Given the description of an element on the screen output the (x, y) to click on. 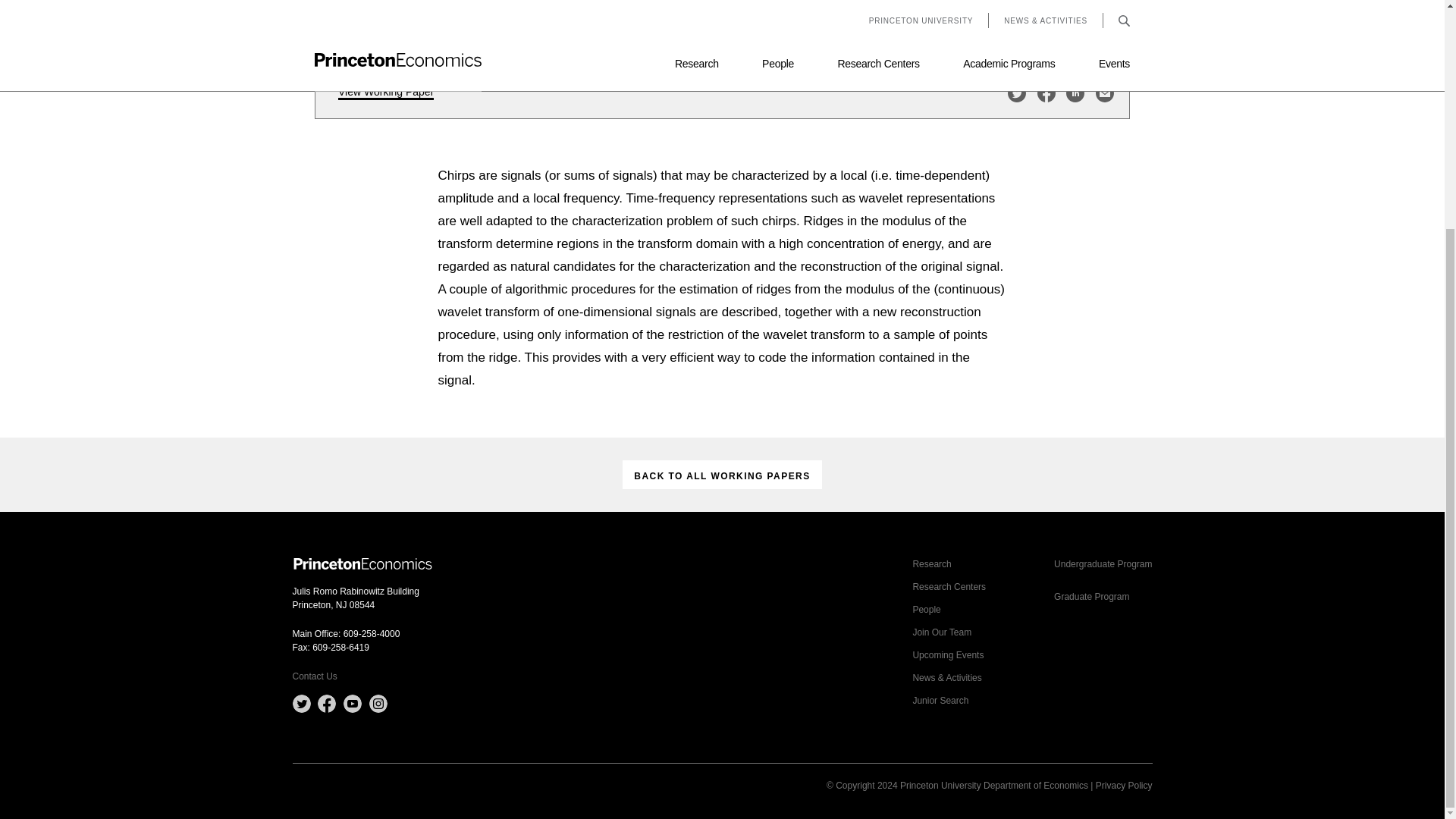
Share on Linkedin (1074, 93)
Rene Carmona (370, 27)
Share on Facebook (1045, 93)
W.L. Hwang (431, 27)
Share Email (1104, 93)
Share on Twitter (1016, 93)
B. Torresani (484, 27)
View Working Paper (385, 92)
